Given the description of an element on the screen output the (x, y) to click on. 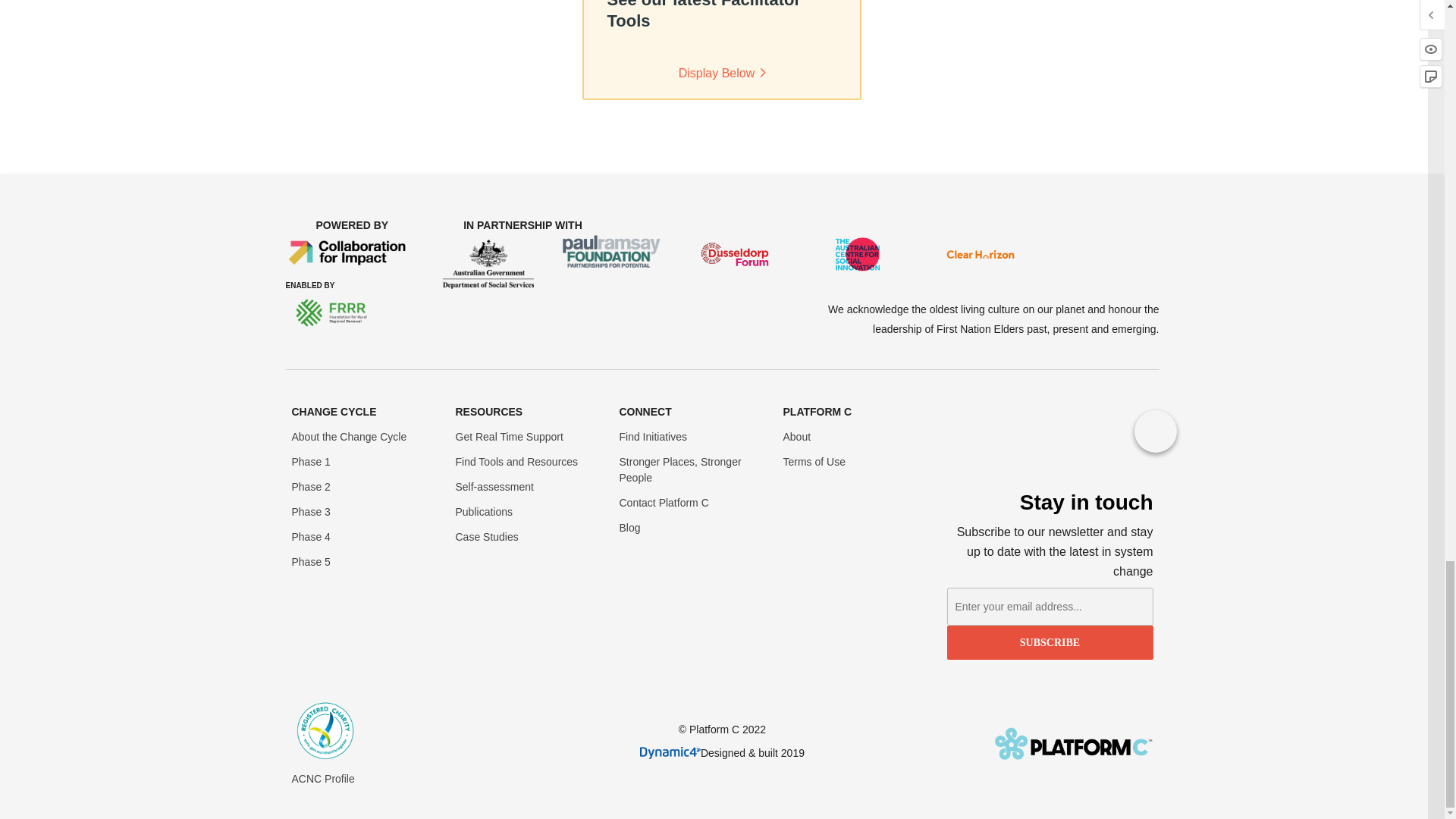
Subscribe (1049, 642)
